Given the description of an element on the screen output the (x, y) to click on. 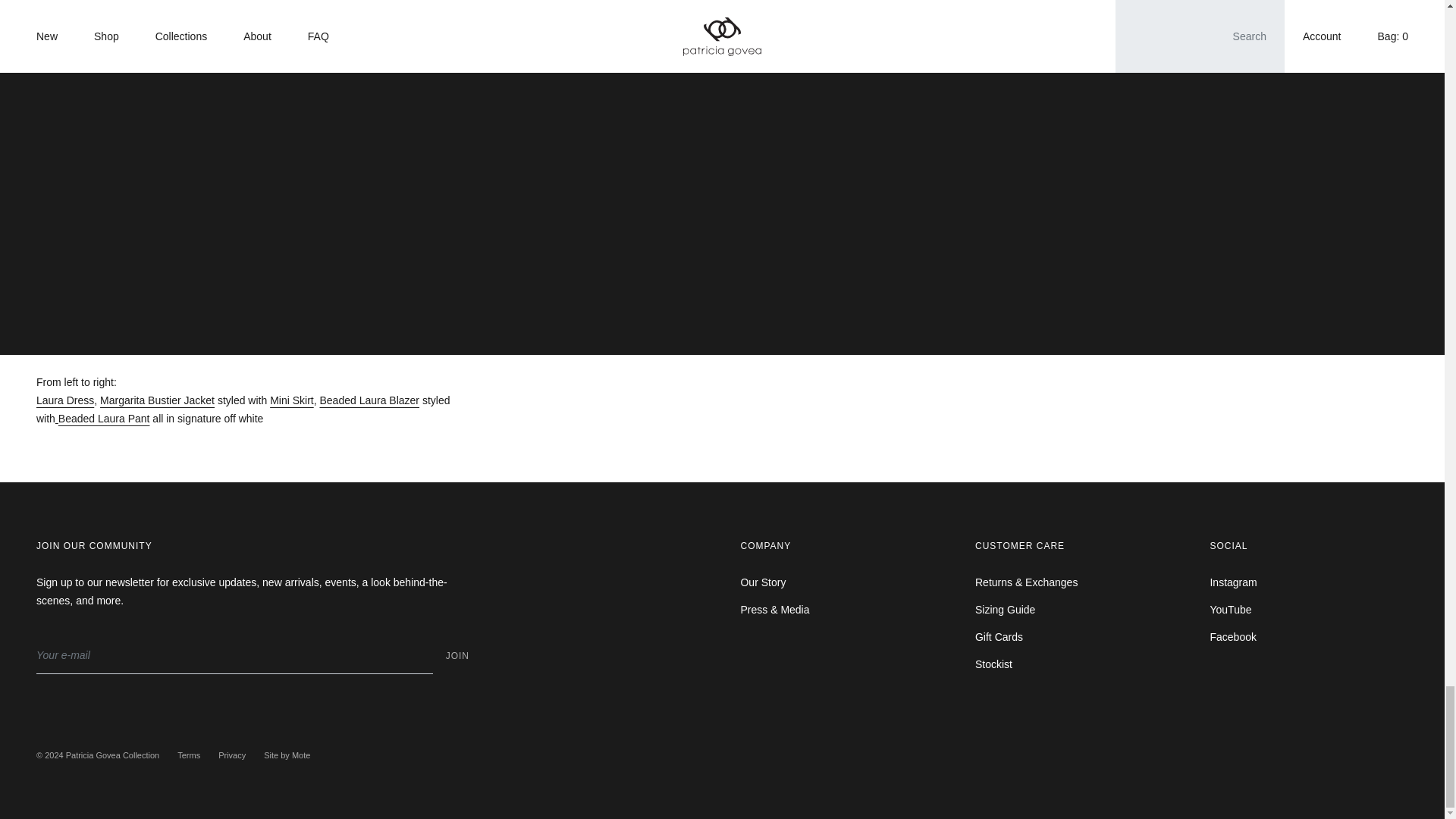
White Mini Skirt (291, 399)
Laura Dress (65, 399)
Beaded Laura Pant (103, 418)
Email (234, 655)
Margarita Bustier  Jacket (157, 399)
Beaded Laura Blazer (368, 399)
